Given the description of an element on the screen output the (x, y) to click on. 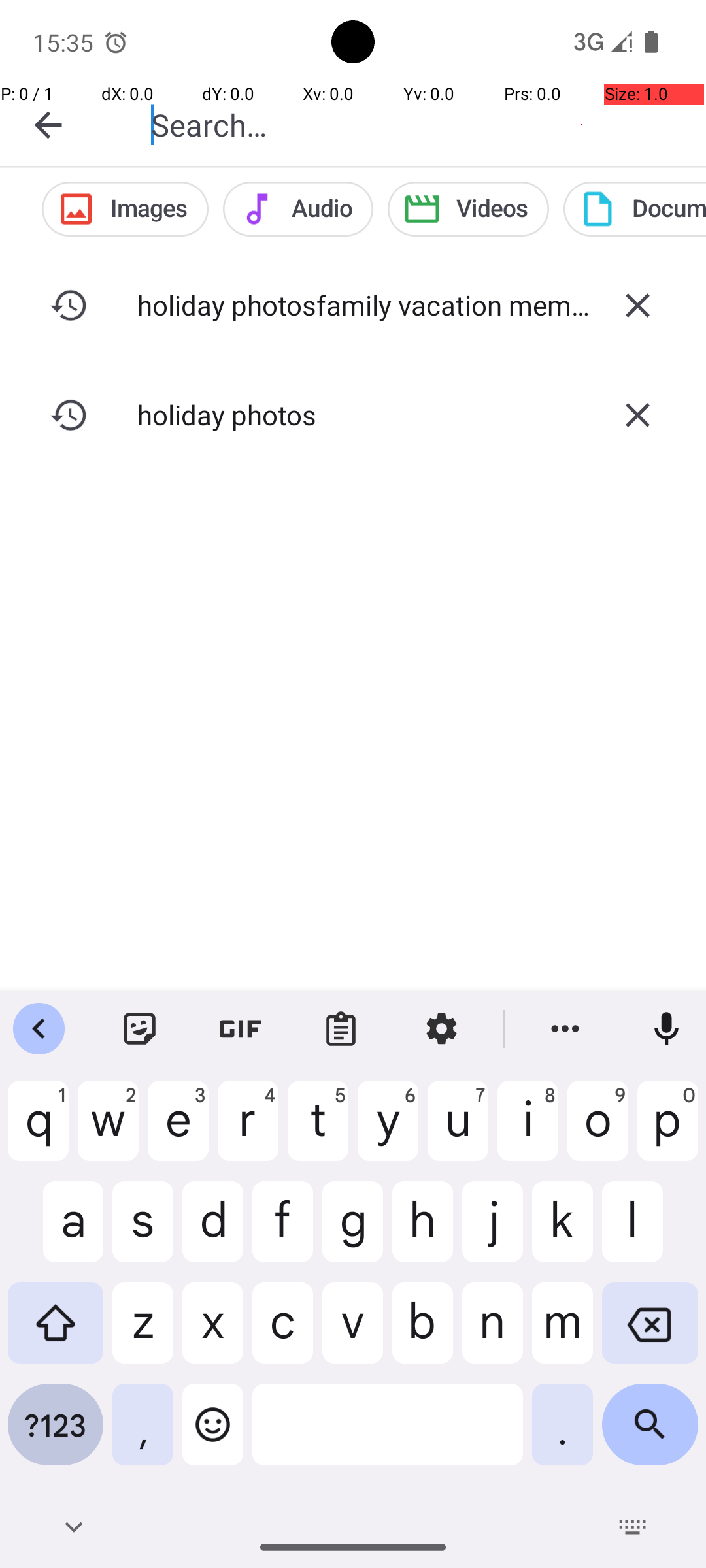
holiday photosfamily vacation memories Element type: android.widget.TextView (352, 304)
Delete search history holiday photosfamily vacation memories Element type: android.widget.ImageView (637, 304)
holiday photos Element type: android.widget.TextView (352, 414)
Delete search history holiday photos Element type: android.widget.ImageView (637, 414)
